Given the description of an element on the screen output the (x, y) to click on. 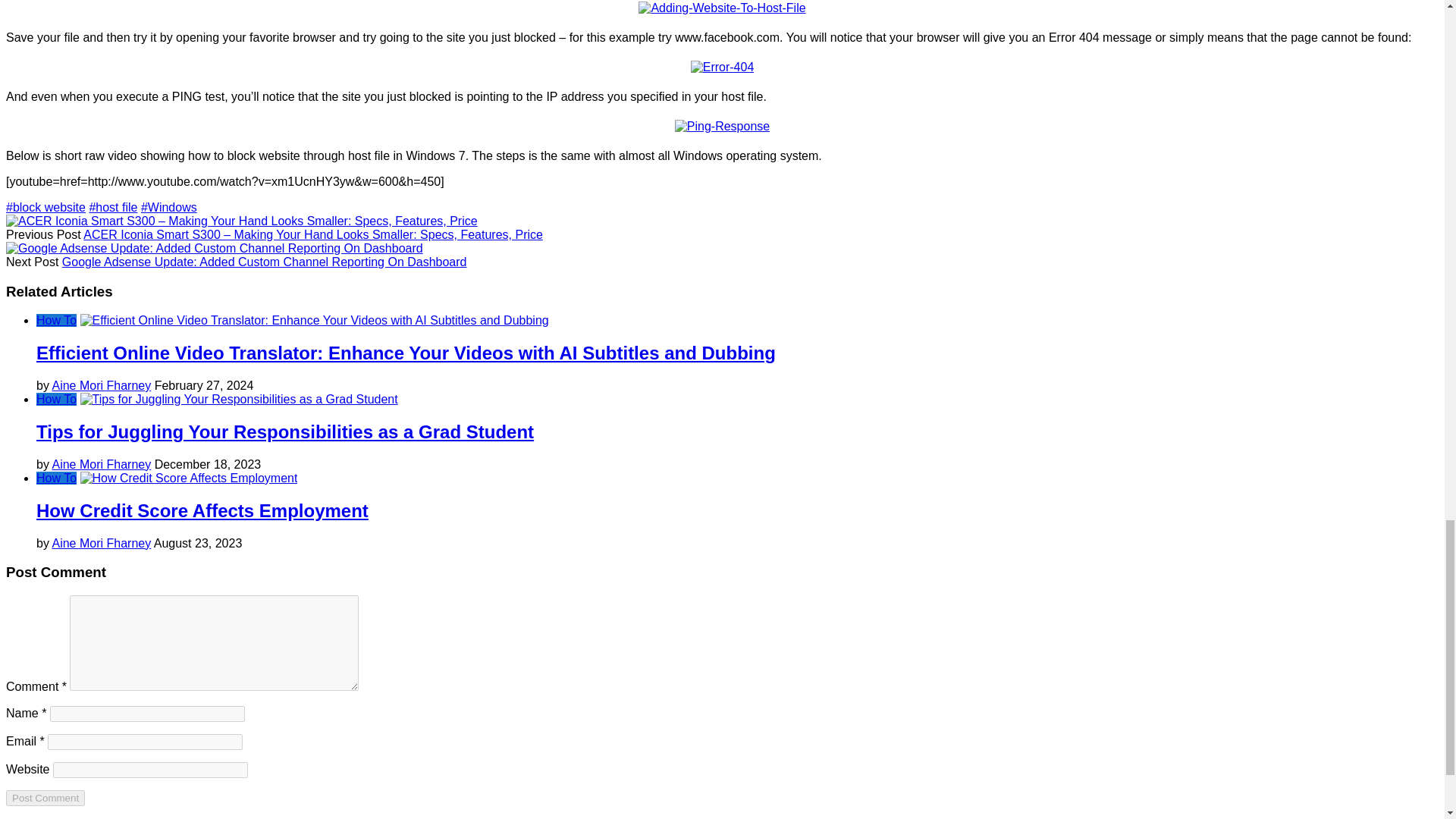
Tuesday, February 27, 2024, 5:39 am (203, 385)
Ping-Response (722, 126)
Error-404 (722, 67)
Monday, December 18, 2023, 5:56 am (208, 463)
Adding-Website-To-Host-File (722, 8)
Wednesday, August 23, 2023, 6:56 am (198, 543)
Post Comment (44, 797)
